Given the description of an element on the screen output the (x, y) to click on. 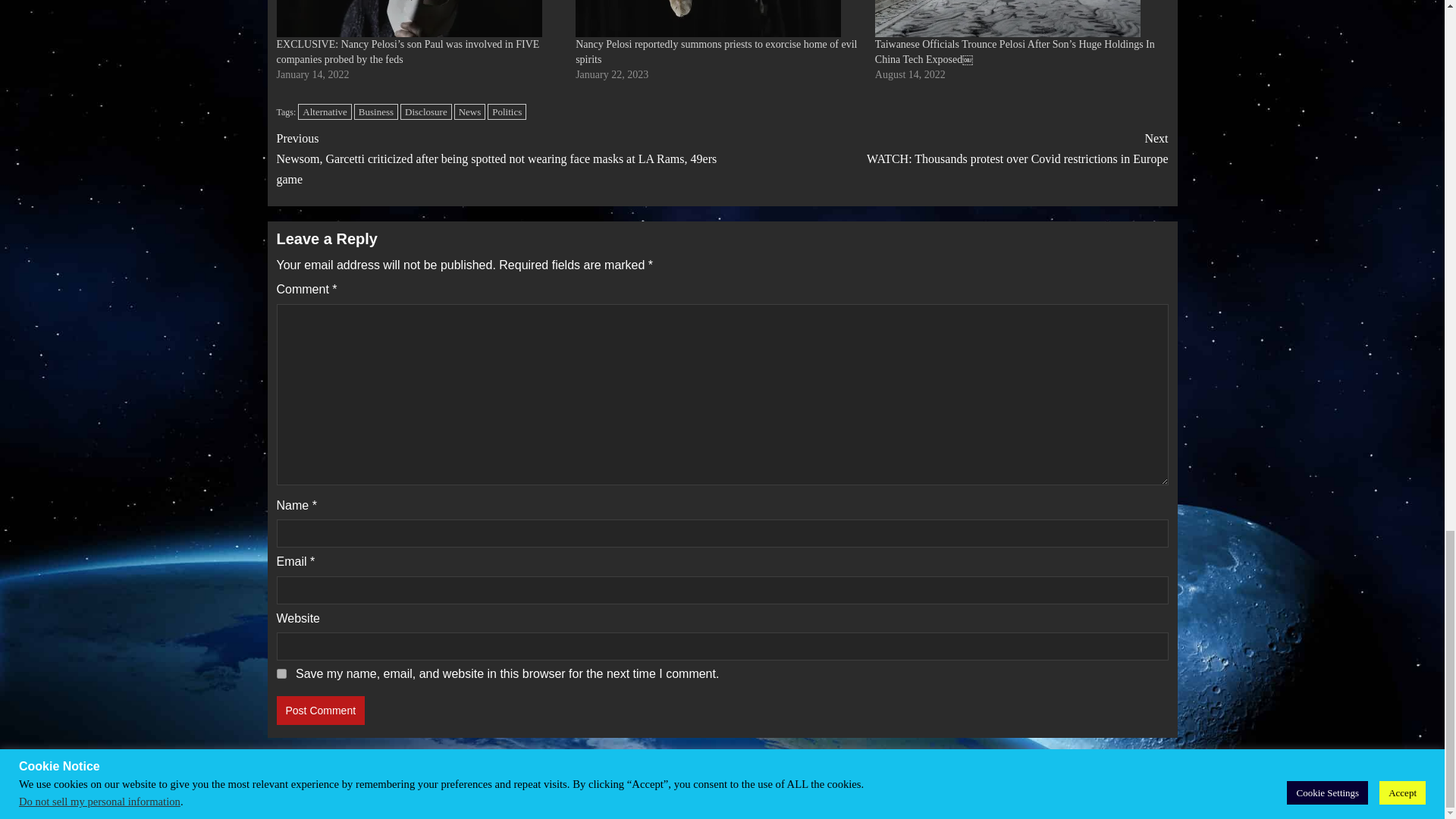
yes (280, 673)
Post Comment (320, 710)
